Given the description of an element on the screen output the (x, y) to click on. 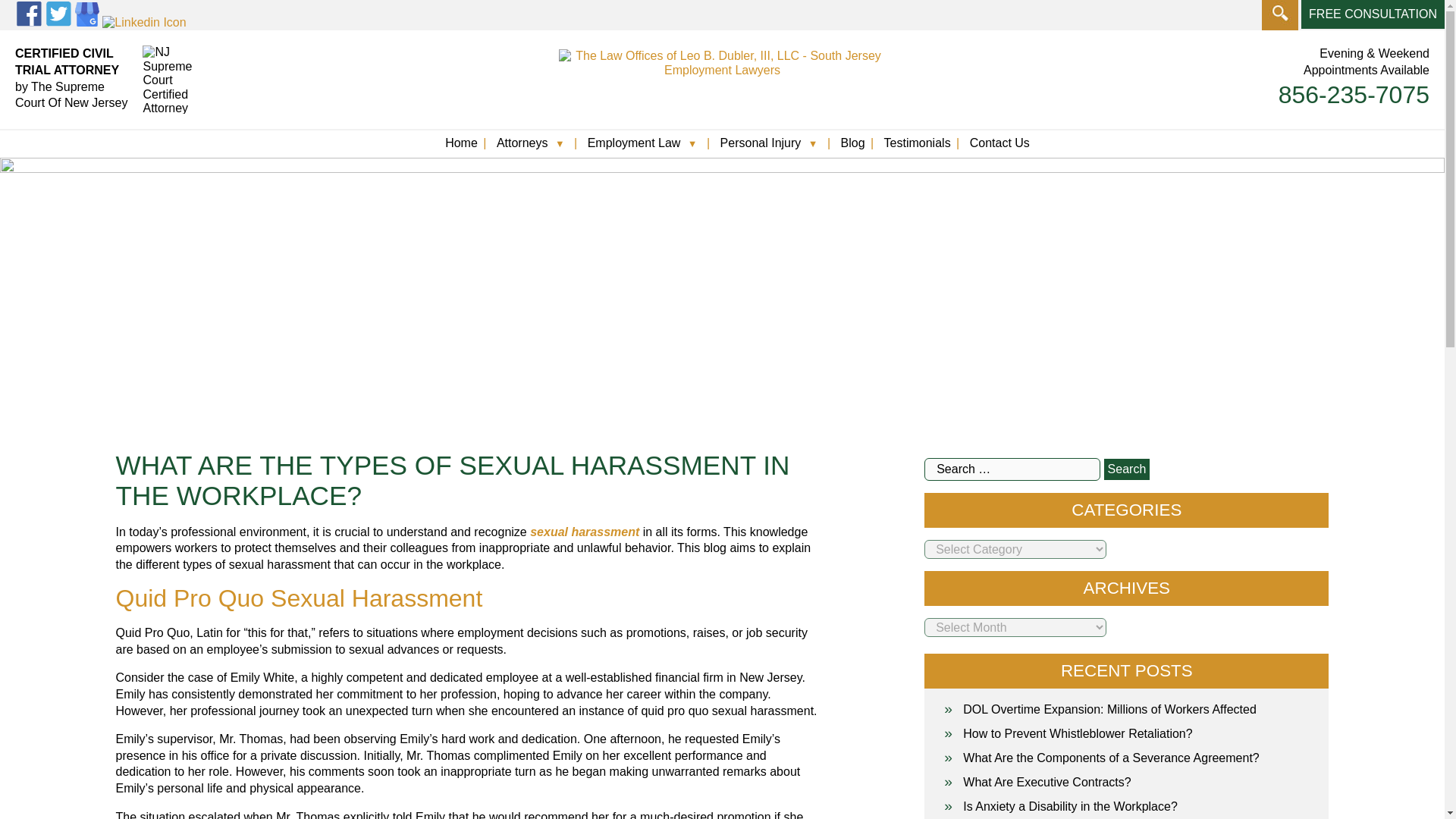
Employment Law (634, 153)
Home (461, 153)
Search (1126, 468)
Testimonials (916, 153)
Attorneys (522, 153)
Contact Us (999, 153)
Personal Injury (761, 153)
856-235-7075 (1353, 94)
Search (1126, 468)
sexual harassment (584, 531)
